Given the description of an element on the screen output the (x, y) to click on. 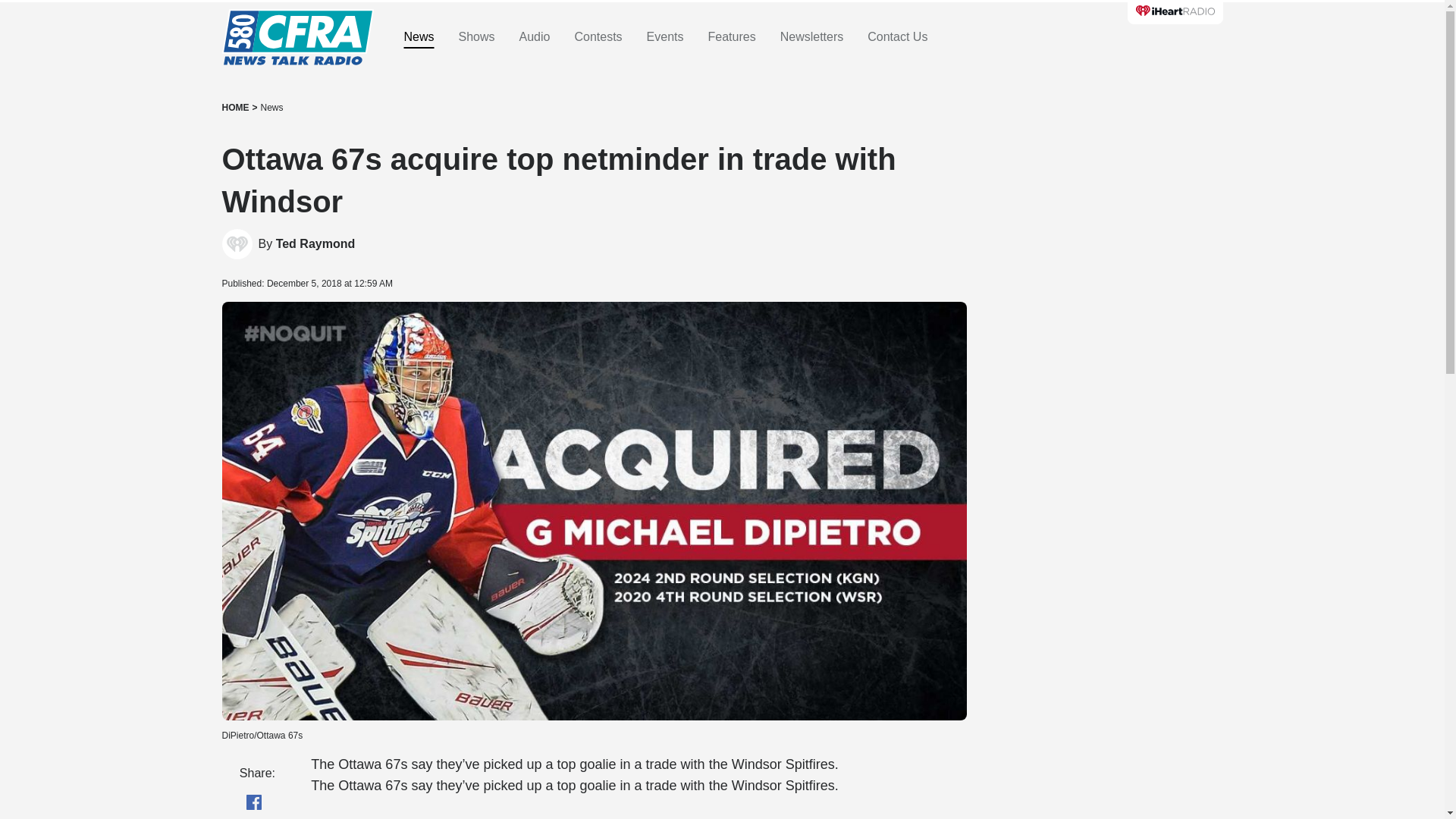
HOME (234, 107)
News (271, 107)
Features (731, 37)
Contests (597, 37)
Contact Us (897, 37)
Newsletters (812, 37)
Ted Raymond (315, 243)
Ted Raymond (315, 243)
Ted Raymond (236, 244)
